Given the description of an element on the screen output the (x, y) to click on. 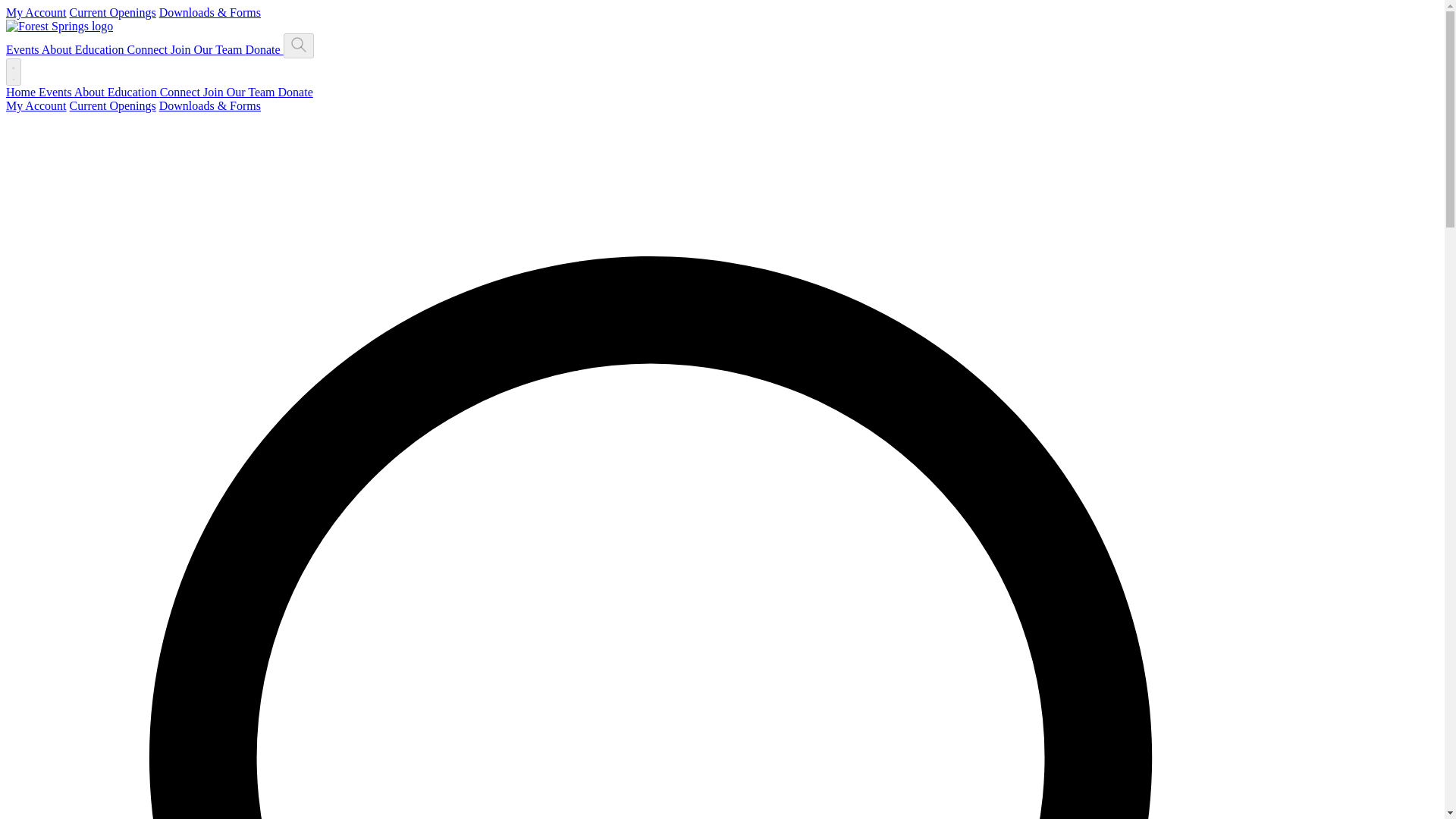
Donate (295, 91)
Donate (263, 49)
About (58, 49)
Education (101, 49)
Connect (181, 91)
Connect (149, 49)
My Account (35, 105)
Join Our Team (208, 49)
Events (23, 49)
Home (22, 91)
Current Openings (112, 105)
Join Our Team (240, 91)
Events (56, 91)
My Account (35, 11)
Current Openings (112, 11)
